Given the description of an element on the screen output the (x, y) to click on. 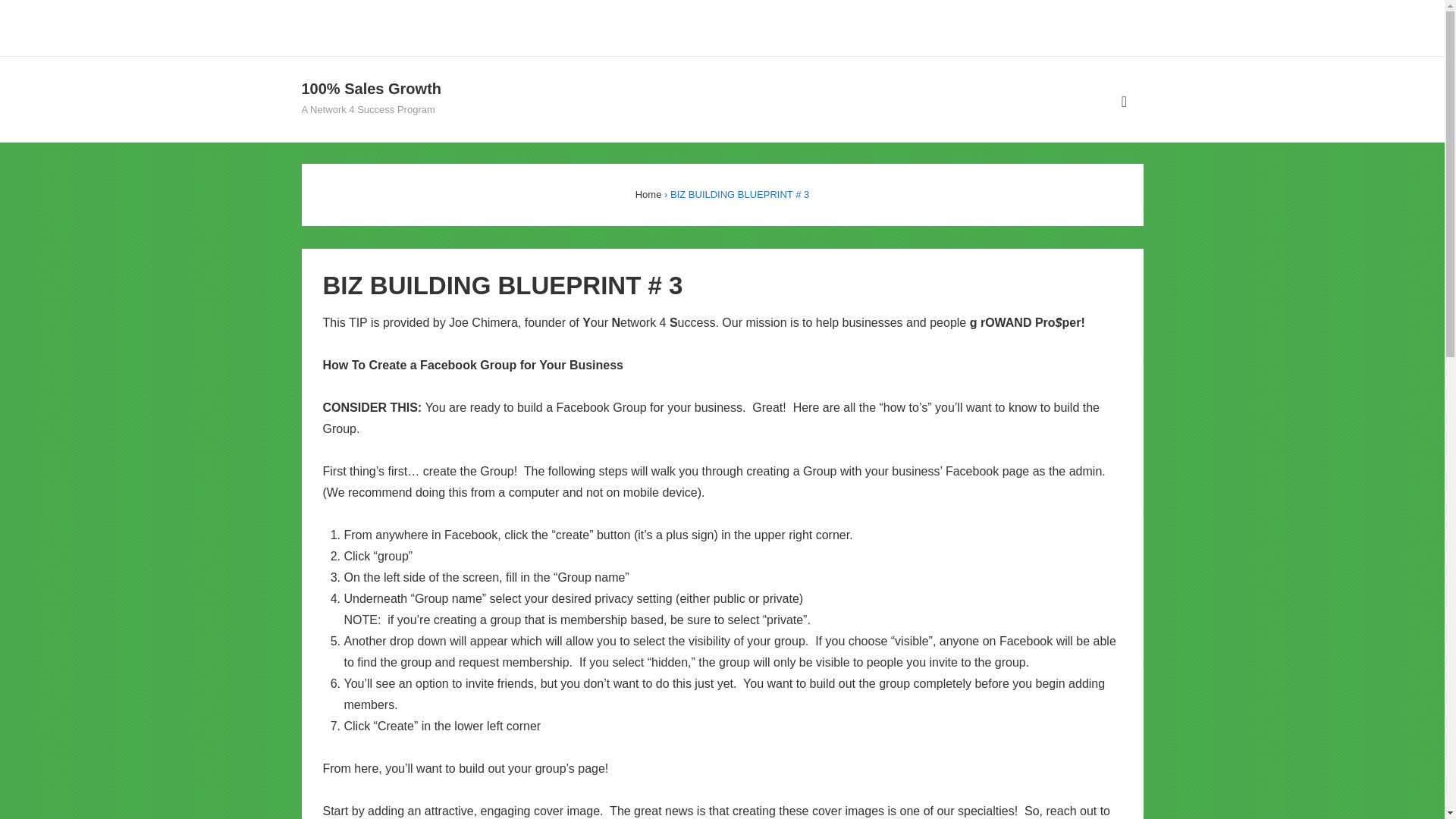
Home (648, 193)
MENU (1123, 101)
